Given the description of an element on the screen output the (x, y) to click on. 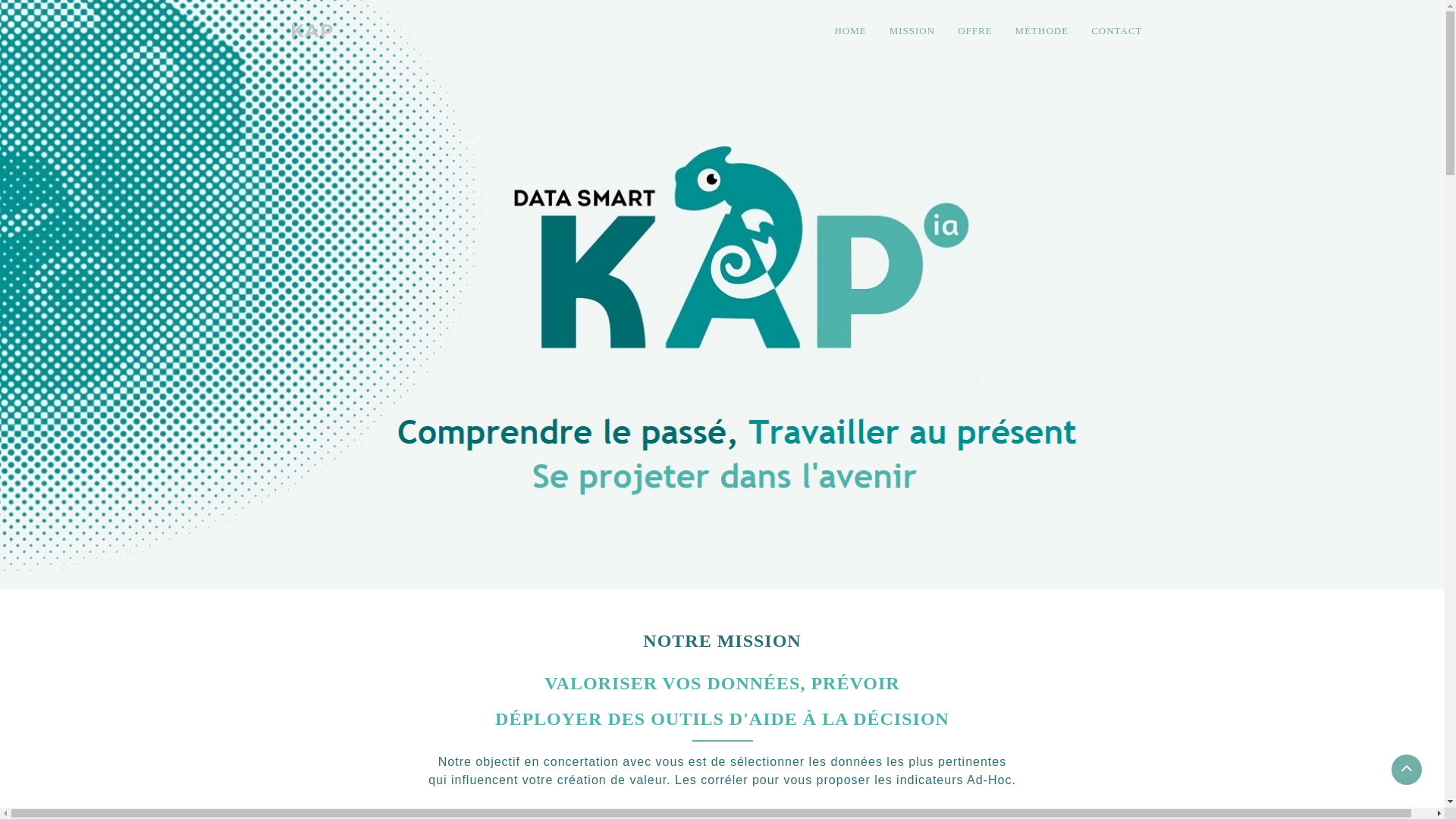
MISSION Element type: text (912, 30)
KAP Element type: text (311, 30)
HOME Element type: text (849, 30)
OFFRE Element type: text (974, 30)
CONTACT Element type: text (1116, 30)
